Given the description of an element on the screen output the (x, y) to click on. 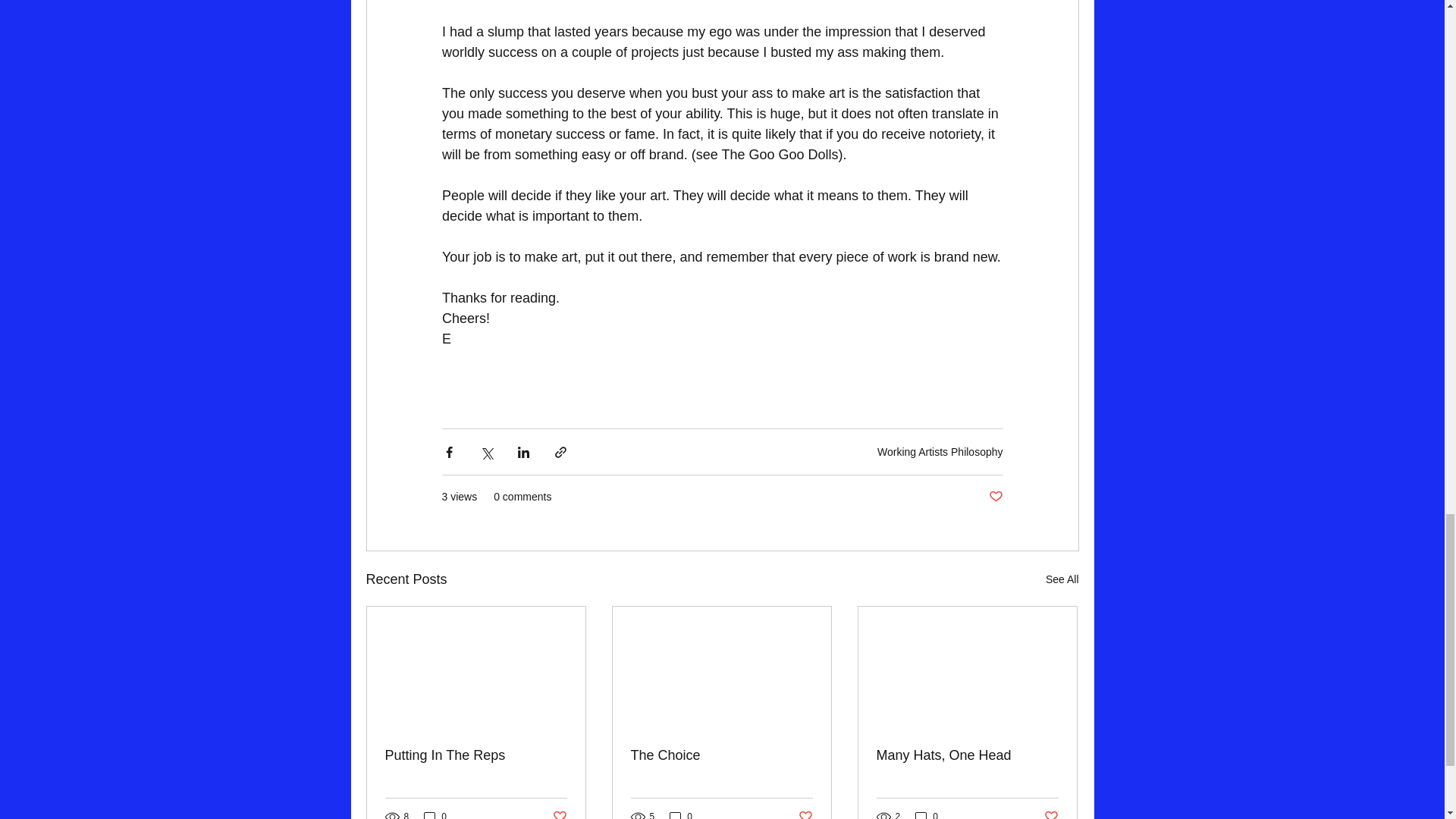
Post not marked as liked (804, 813)
Working Artists Philosophy (940, 451)
Putting In The Reps (476, 755)
0 (435, 814)
Post not marked as liked (558, 813)
The Choice (721, 755)
See All (1061, 579)
Post not marked as liked (995, 496)
Post not marked as liked (1050, 813)
0 (681, 814)
